Given the description of an element on the screen output the (x, y) to click on. 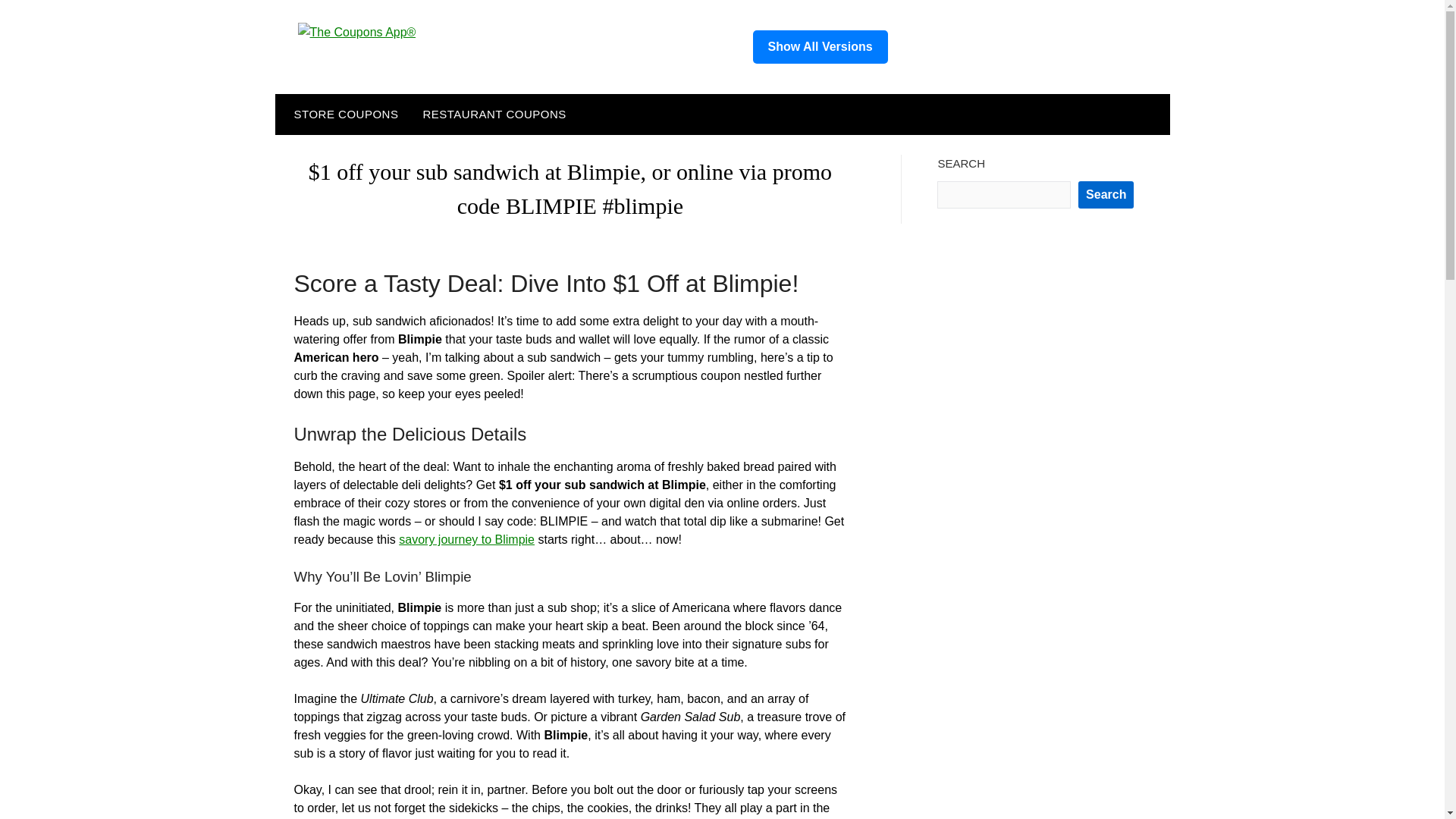
STORE COUPONS (342, 114)
savory journey to Blimpie (466, 539)
Show All Versions (819, 46)
RESTAURANT COUPONS (494, 114)
